Given the description of an element on the screen output the (x, y) to click on. 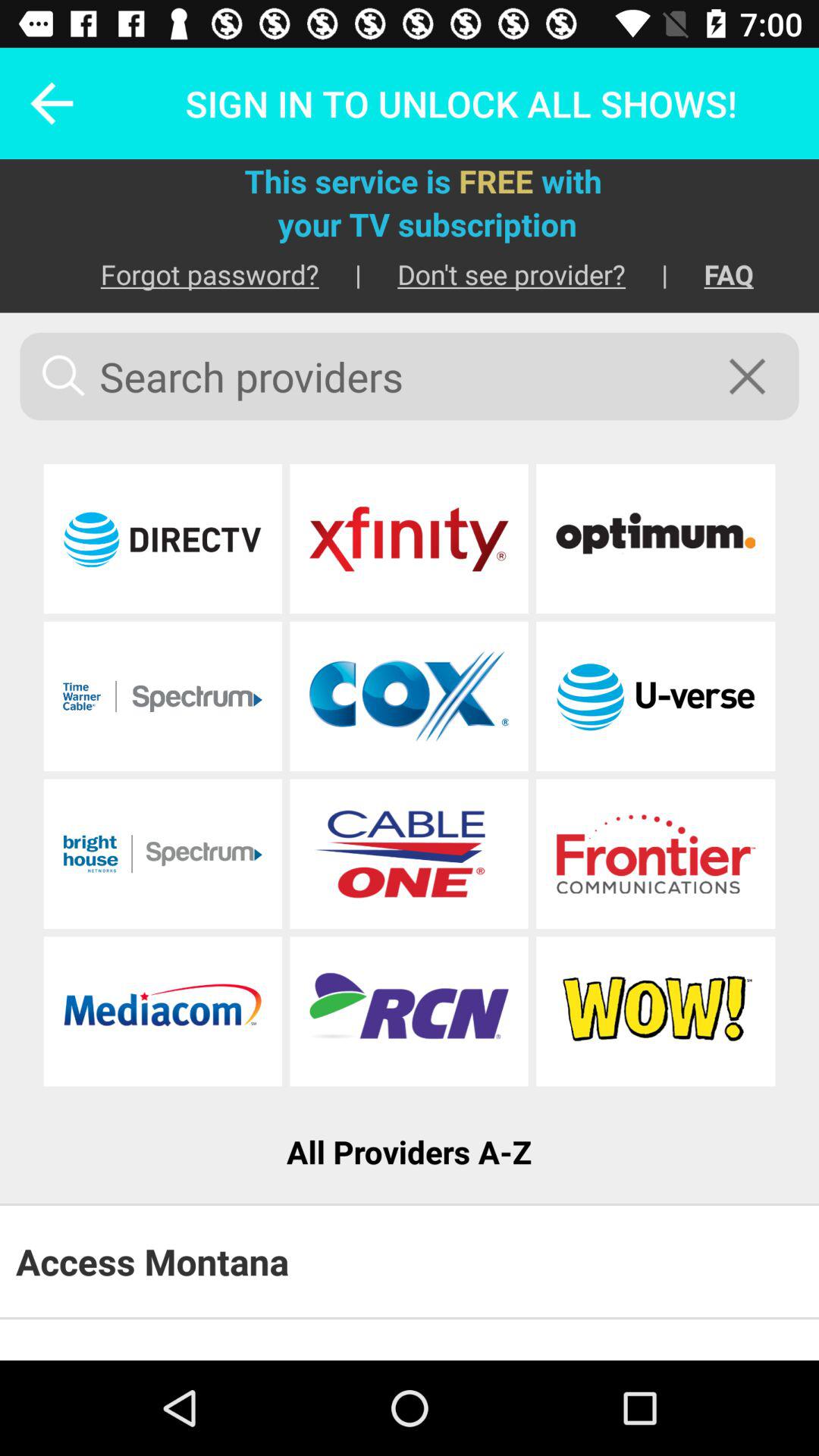
app icon (655, 1011)
